Given the description of an element on the screen output the (x, y) to click on. 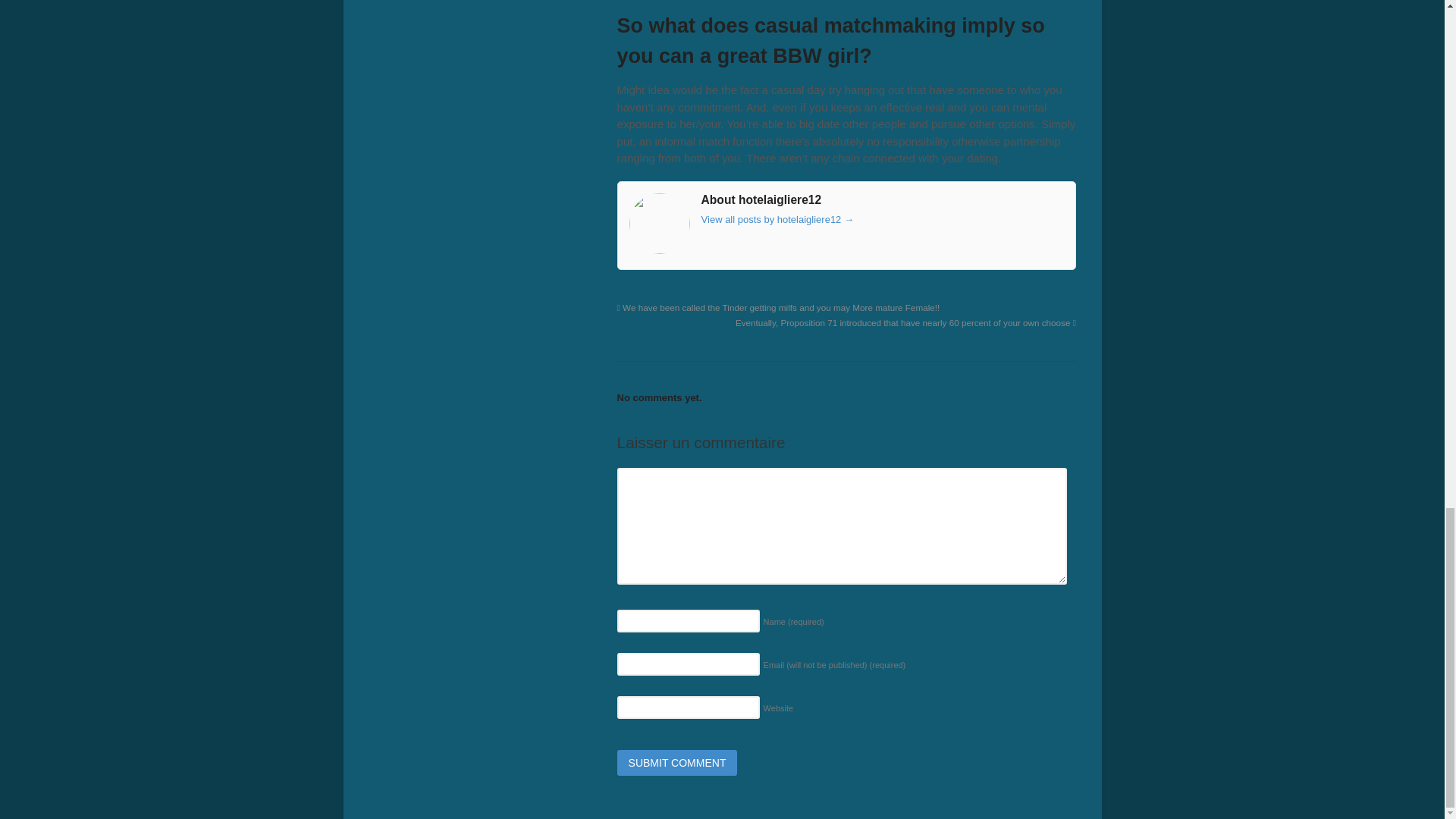
Submit Comment (677, 762)
Submit Comment (677, 762)
